Given the description of an element on the screen output the (x, y) to click on. 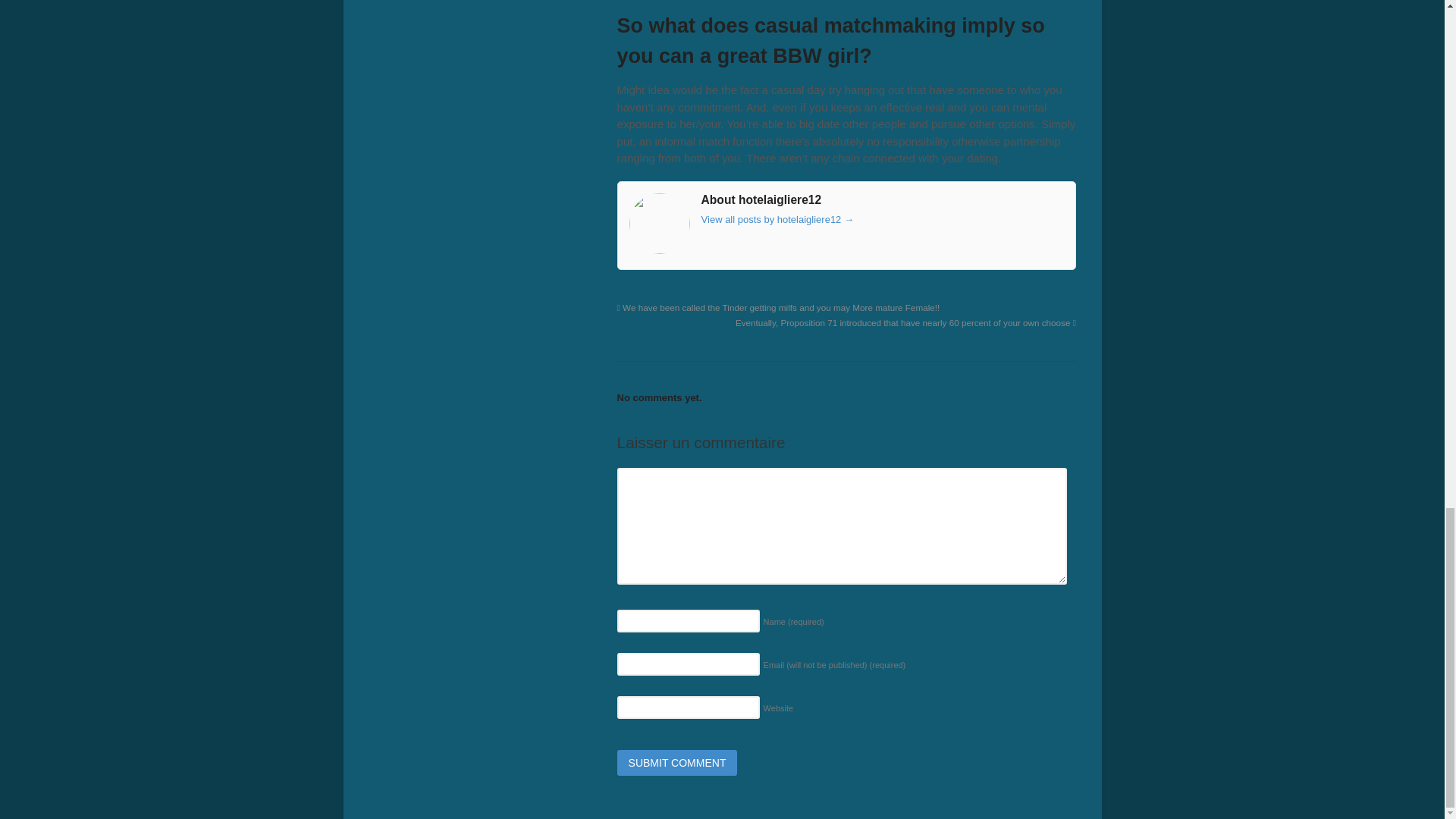
Submit Comment (677, 762)
Submit Comment (677, 762)
